Given the description of an element on the screen output the (x, y) to click on. 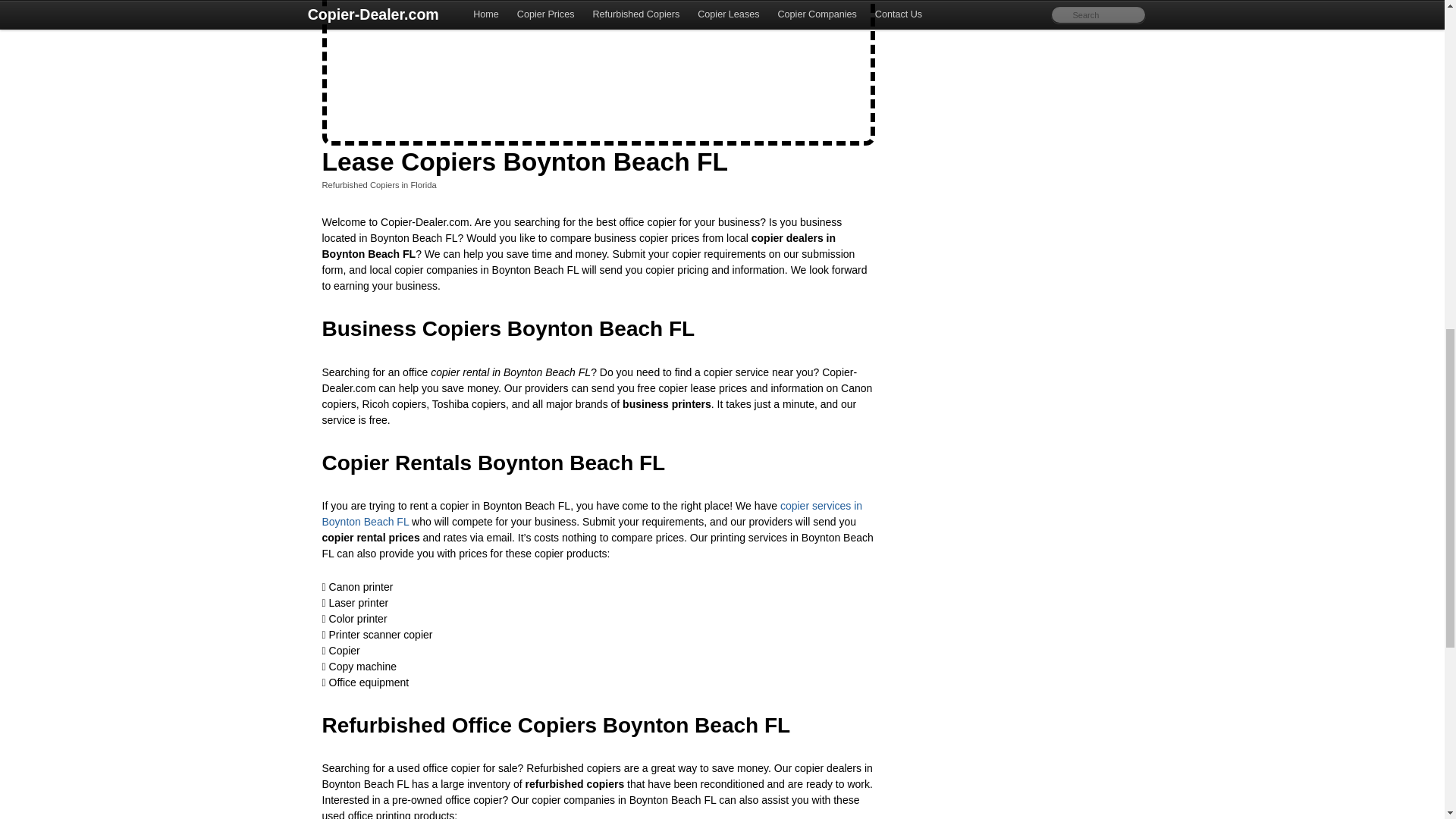
Florida (422, 184)
Refurbished Copiers (359, 184)
copier services in Boynton Beach FL (591, 513)
Embedded Wufoo Form (598, 68)
